Given the description of an element on the screen output the (x, y) to click on. 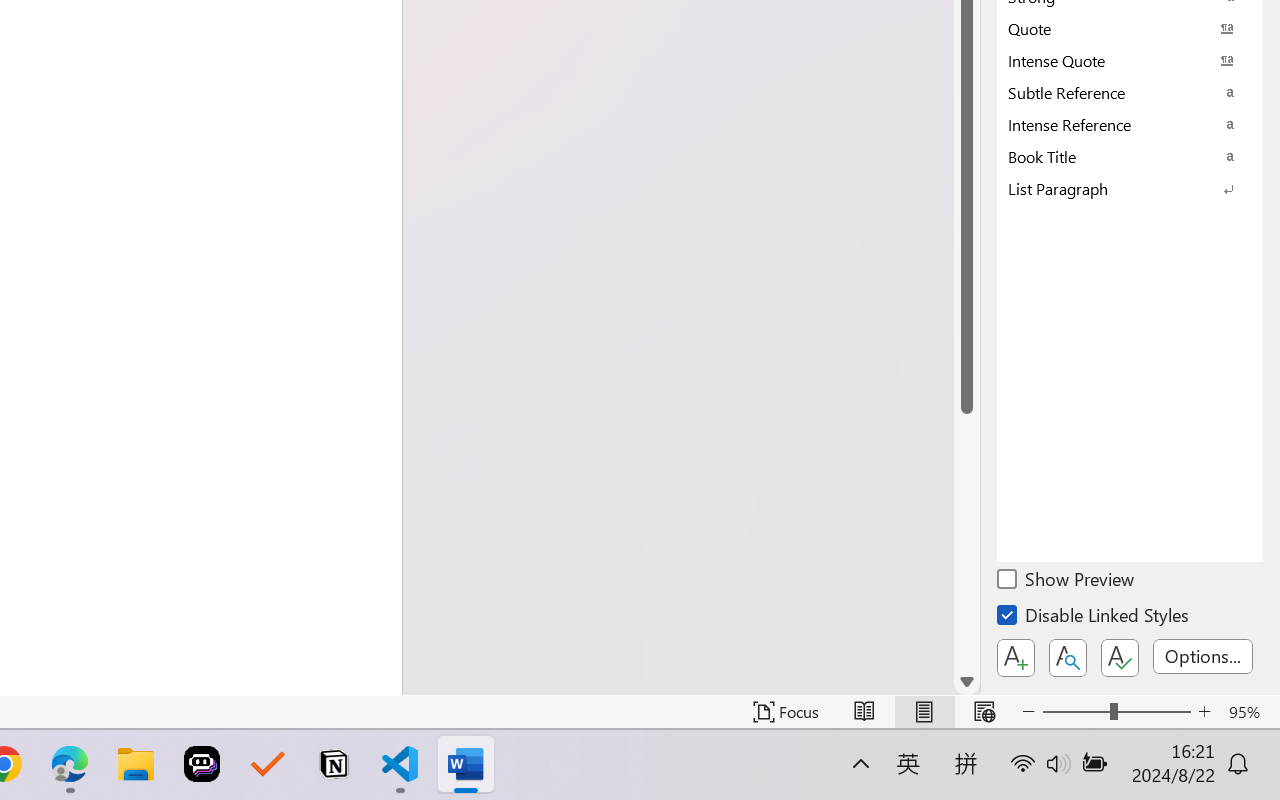
Disable Linked Styles (1094, 618)
List Paragraph (1130, 188)
Options... (1203, 656)
Page down (966, 541)
Class: NetUIButton (1119, 657)
Show Preview (1067, 582)
Intense Quote (1130, 60)
Subtle Reference (1130, 92)
Line down (966, 681)
